Given the description of an element on the screen output the (x, y) to click on. 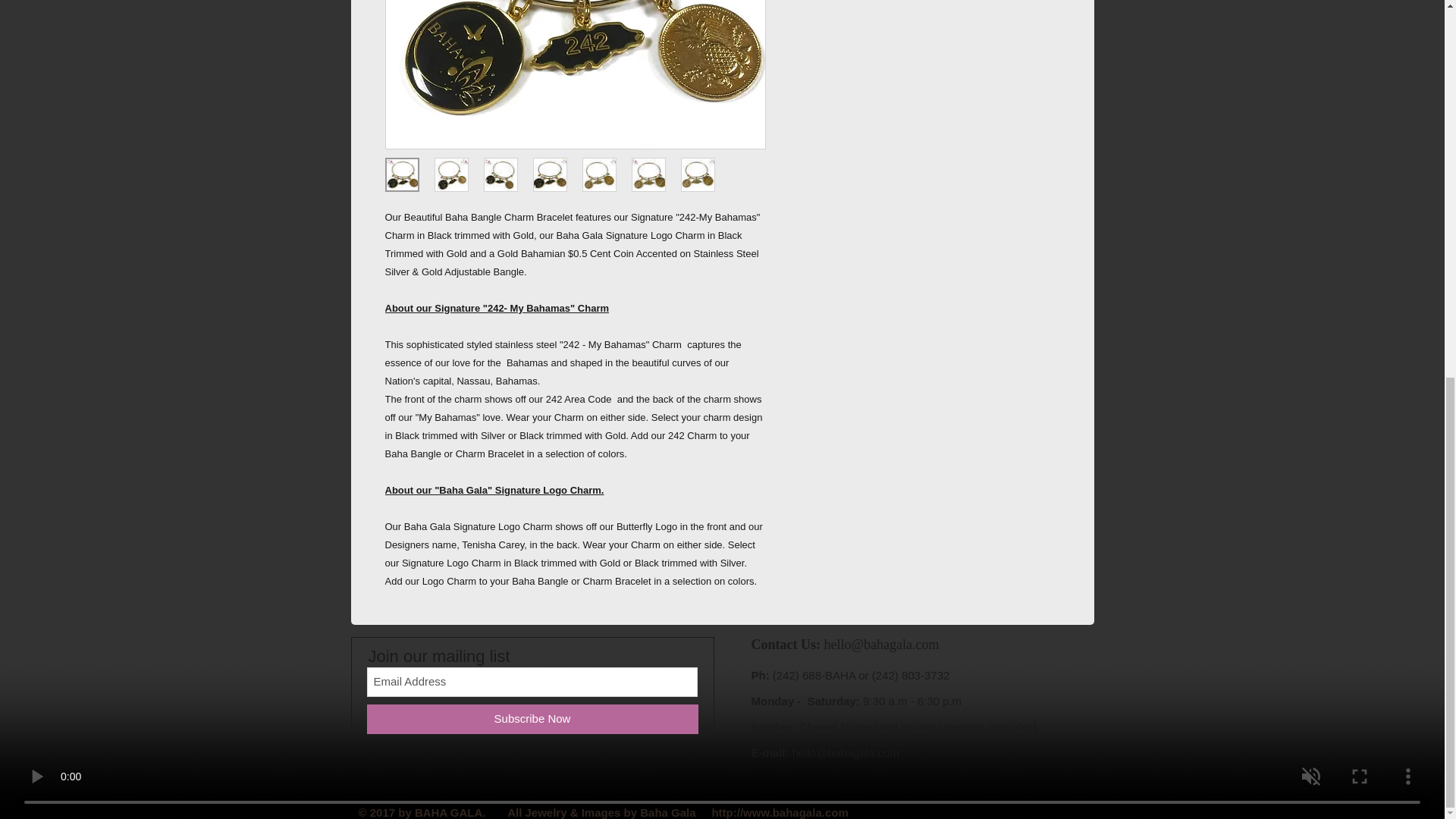
Subscribe Now (532, 718)
